Given the description of an element on the screen output the (x, y) to click on. 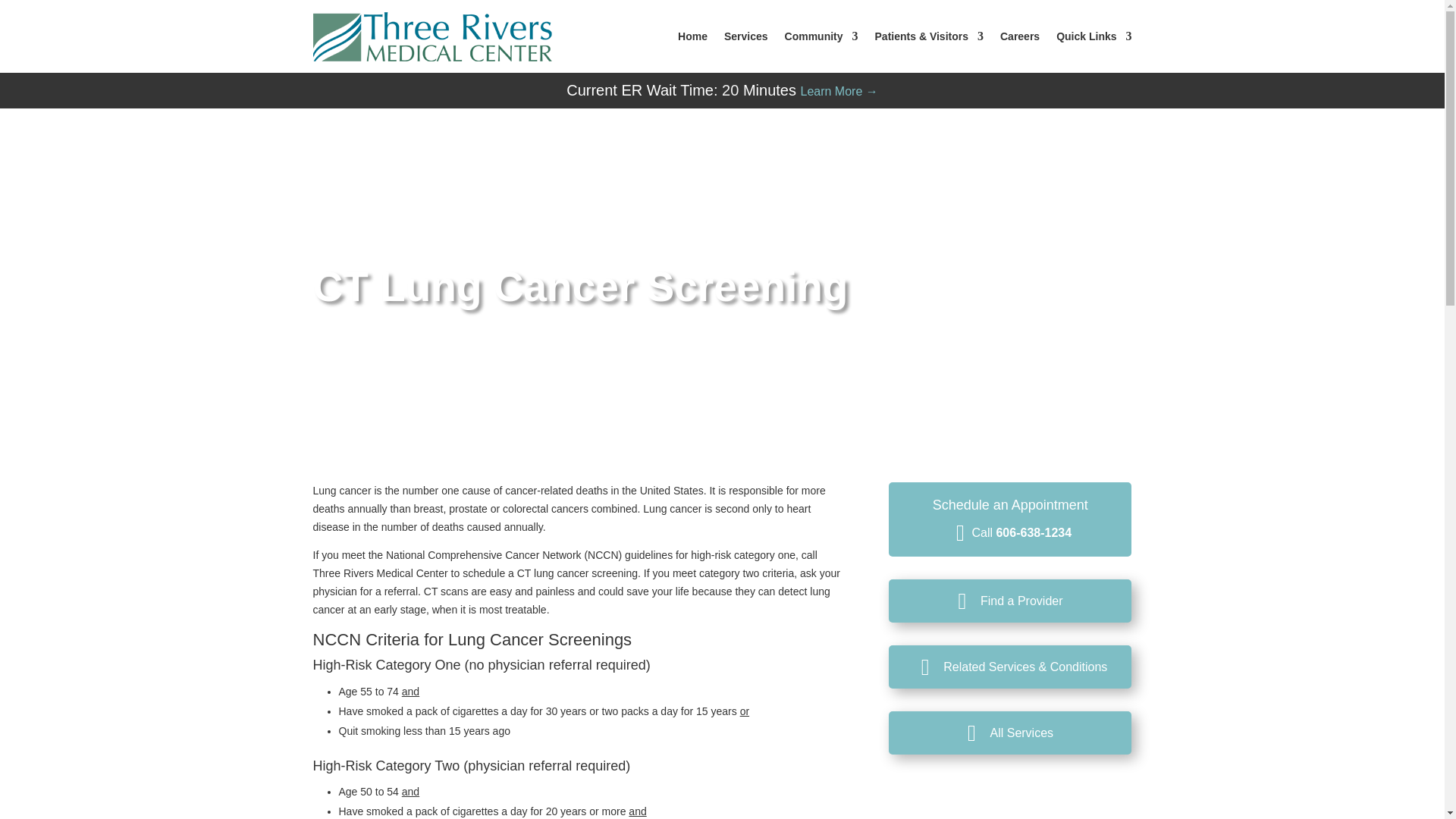
Quick Links (1094, 36)
Community (821, 36)
